Given the description of an element on the screen output the (x, y) to click on. 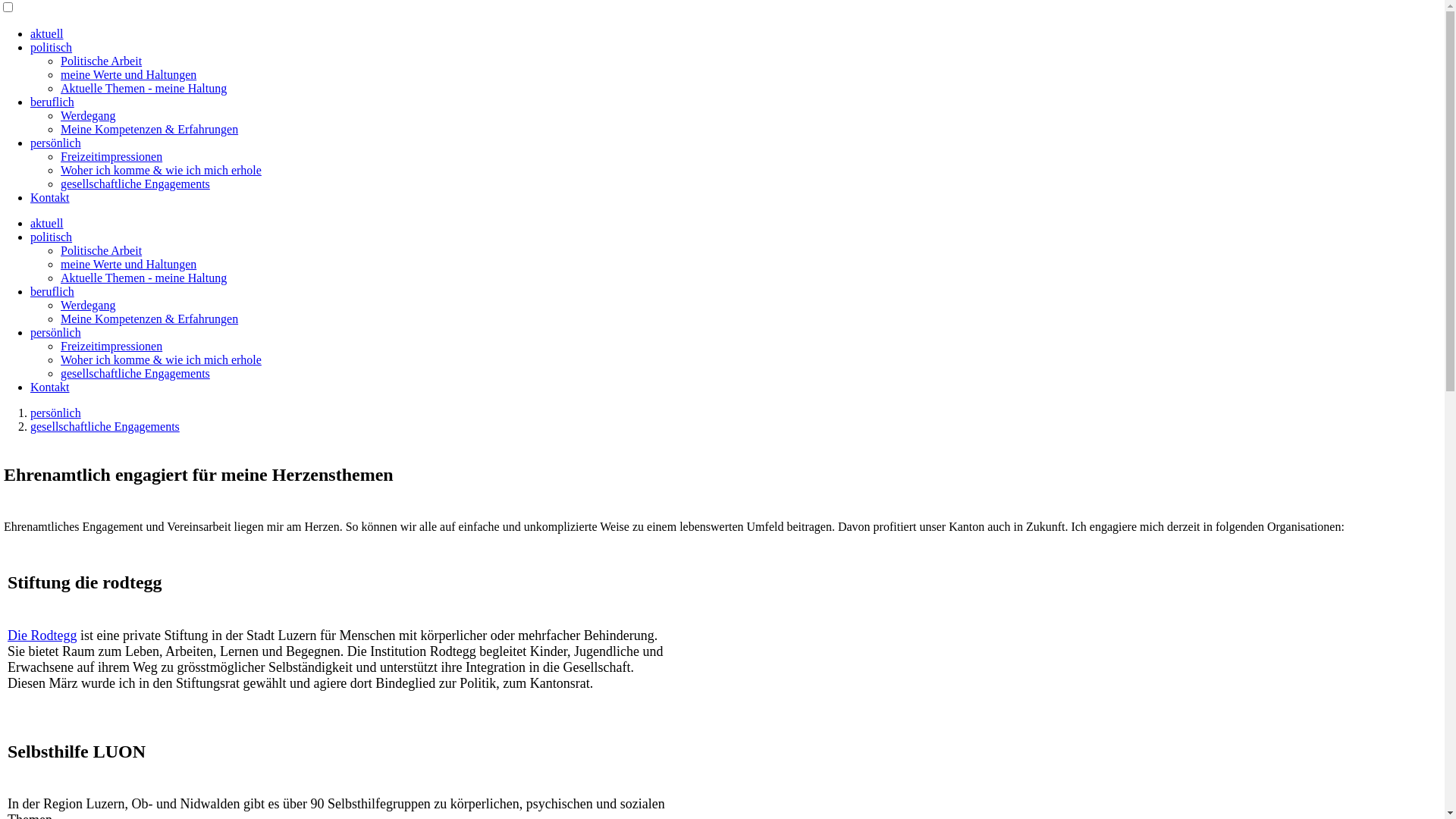
meine Werte und Haltungen Element type: text (128, 74)
Aktuelle Themen - meine Haltung Element type: text (143, 87)
Kontakt Element type: text (49, 386)
Meine Kompetenzen & Erfahrungen Element type: text (149, 128)
meine Werte und Haltungen Element type: text (128, 263)
Meine Kompetenzen & Erfahrungen Element type: text (149, 318)
Freizeitimpressionen Element type: text (111, 345)
Politische Arbeit Element type: text (100, 60)
Woher ich komme & wie ich mich erhole Element type: text (160, 169)
Die Rodtegg Element type: text (42, 635)
politisch Element type: text (51, 46)
Freizeitimpressionen Element type: text (111, 156)
Kontakt Element type: text (49, 197)
Werdegang Element type: text (87, 304)
beruflich Element type: text (52, 101)
gesellschaftliche Engagements Element type: text (135, 183)
gesellschaftliche Engagements Element type: text (104, 426)
aktuell Element type: text (46, 33)
aktuell Element type: text (46, 222)
Werdegang Element type: text (87, 115)
politisch Element type: text (51, 236)
gesellschaftliche Engagements Element type: text (135, 373)
Aktuelle Themen - meine Haltung Element type: text (143, 277)
Woher ich komme & wie ich mich erhole Element type: text (160, 359)
Politische Arbeit Element type: text (100, 250)
beruflich Element type: text (52, 291)
